Given the description of an element on the screen output the (x, y) to click on. 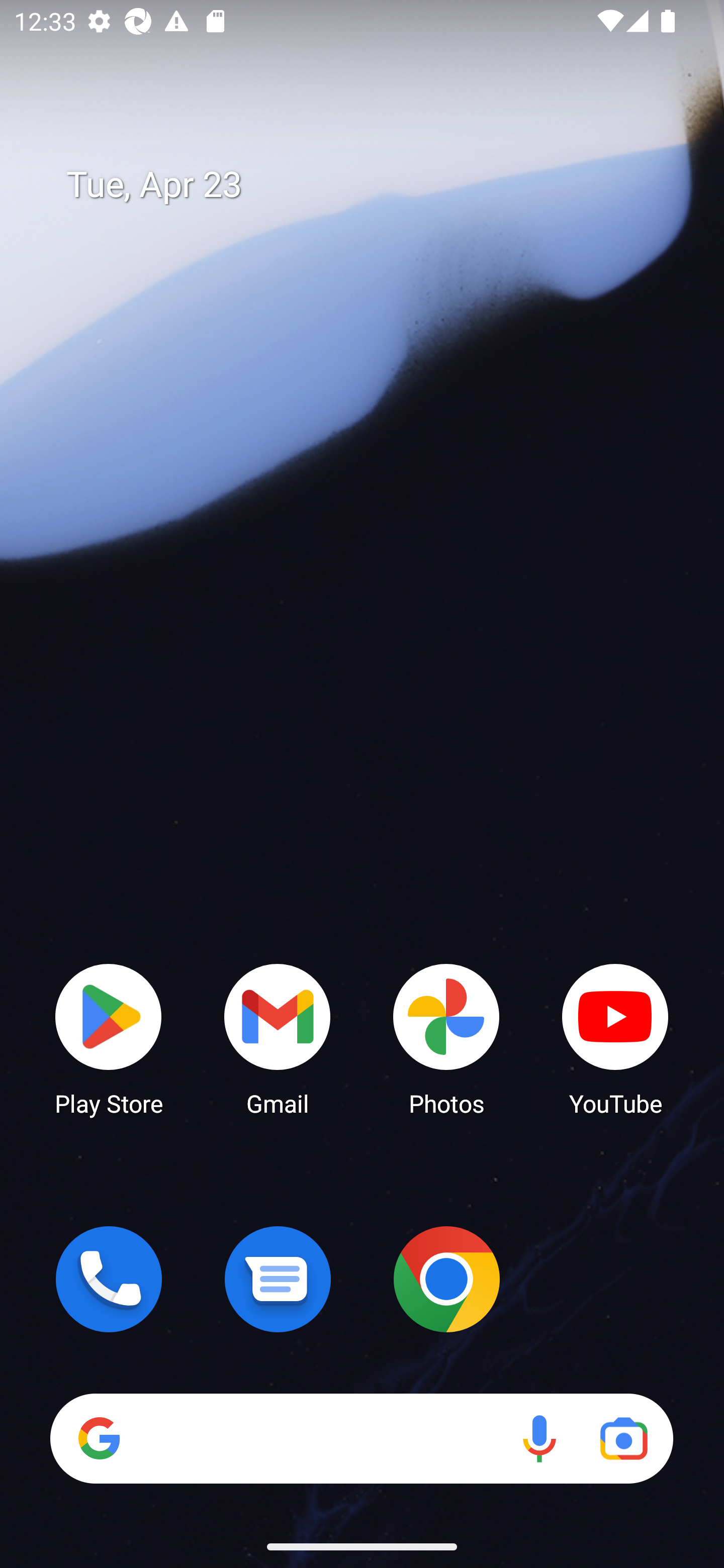
Tue, Apr 23 (375, 184)
Play Store (108, 1038)
Gmail (277, 1038)
Photos (445, 1038)
YouTube (615, 1038)
Phone (108, 1279)
Messages (277, 1279)
Chrome (446, 1279)
Search Voice search Google Lens (361, 1438)
Voice search (539, 1438)
Google Lens (623, 1438)
